Given the description of an element on the screen output the (x, y) to click on. 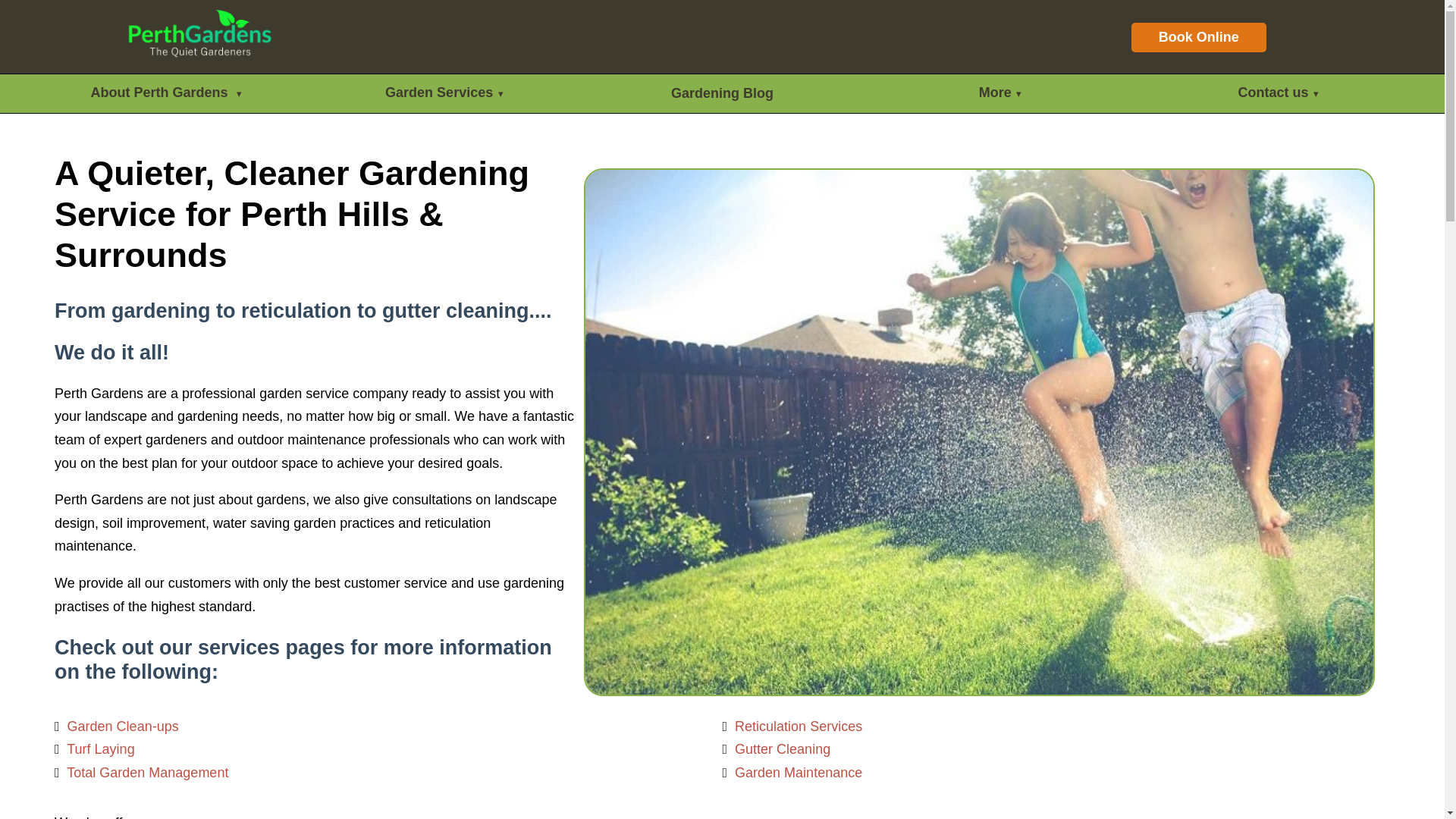
Contact us (1278, 93)
Book Online (1198, 37)
About Perth Gardens (166, 93)
Garden Clean-ups (122, 726)
Garden Maintenance (798, 772)
Garden Services (443, 93)
More (1000, 93)
Reticulation Services (798, 726)
Turf Laying (99, 749)
Total Garden Management (147, 772)
Gutter Cleaning (782, 749)
Gardening Blog (722, 93)
